Given the description of an element on the screen output the (x, y) to click on. 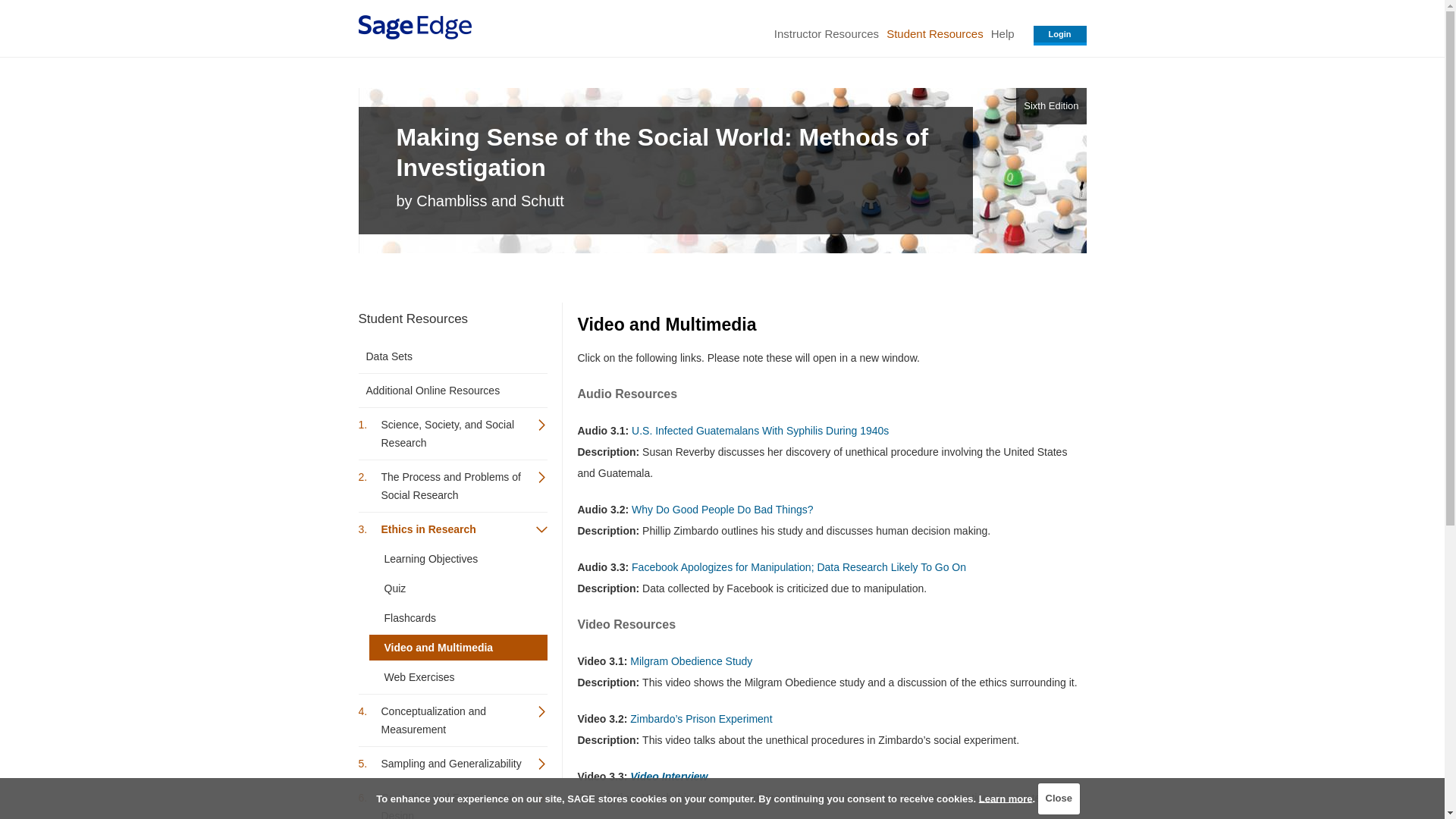
Instructor Resources (826, 33)
Conceptualization and Measurement (452, 720)
The Process and Problems of Social Research (452, 485)
Video and Multimedia (457, 647)
Ethics in Research (452, 529)
Additional Online Resources (444, 390)
Help (1002, 33)
Web Exercises (457, 677)
Data Sets (444, 356)
Flashcards (457, 617)
